Given the description of an element on the screen output the (x, y) to click on. 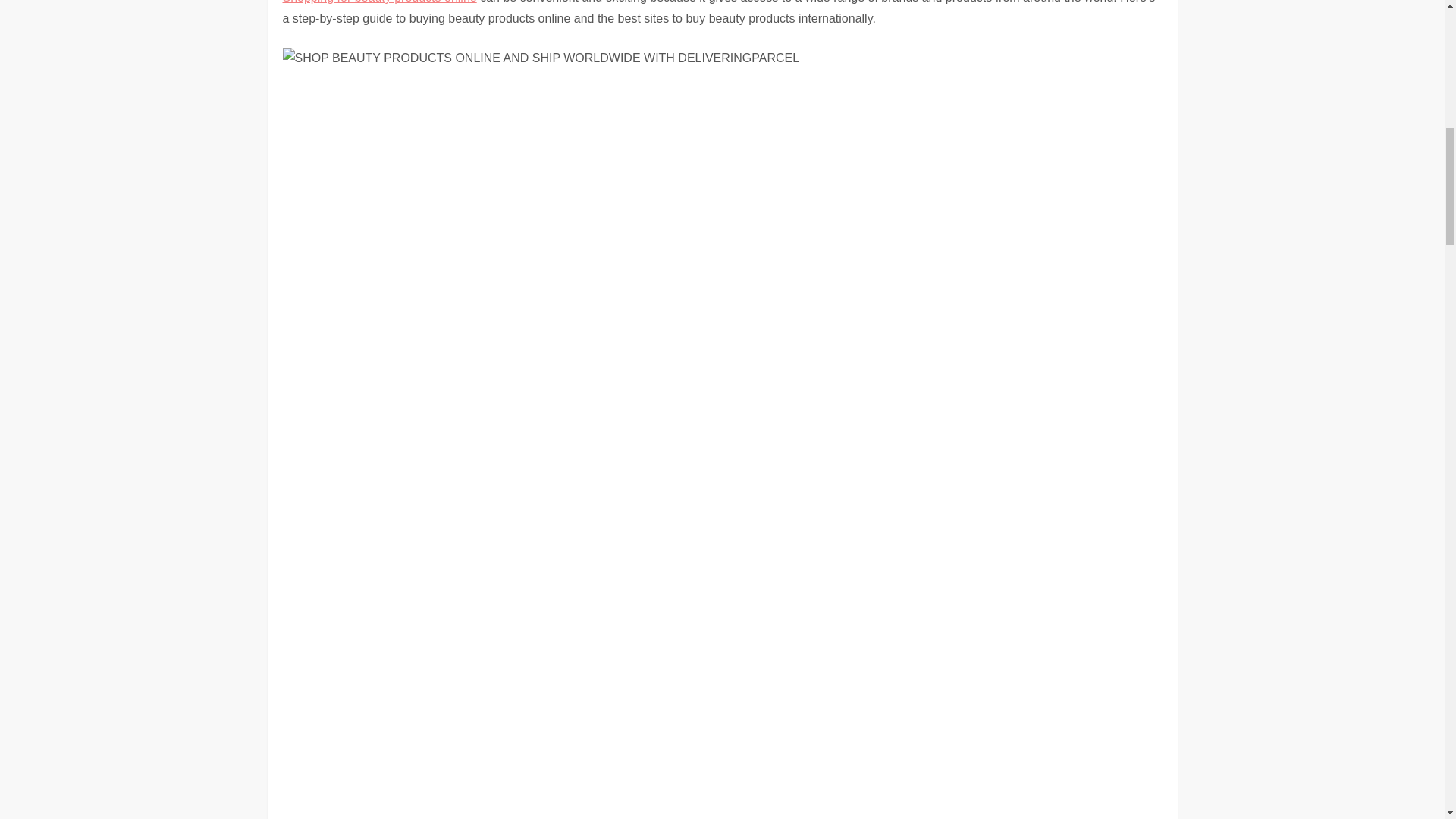
Shopping for beauty products online (379, 2)
